Given the description of an element on the screen output the (x, y) to click on. 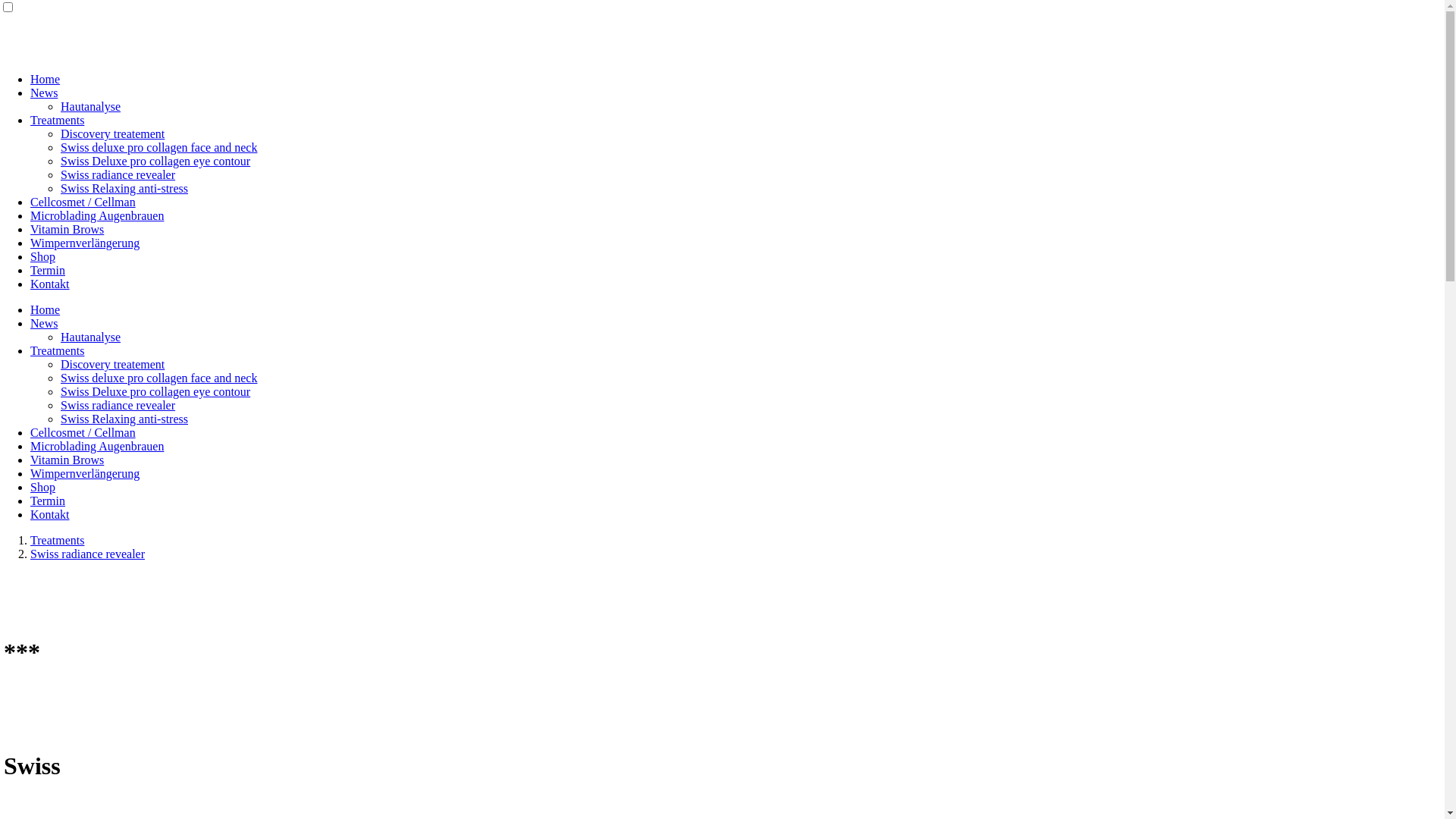
Treatments Element type: text (57, 350)
Discovery treatement Element type: text (112, 363)
Swiss radiance revealer Element type: text (117, 174)
News Element type: text (43, 92)
Swiss Deluxe pro collagen eye contour Element type: text (155, 160)
Microblading Augenbrauen Element type: text (96, 215)
Cellcosmet / Cellman Element type: text (82, 201)
News Element type: text (43, 322)
Hautanalyse Element type: text (90, 106)
Swiss deluxe pro collagen face and neck Element type: text (158, 377)
Microblading Augenbrauen Element type: text (96, 445)
Discovery treatement Element type: text (112, 133)
Swiss radiance revealer Element type: text (117, 404)
Kontakt Element type: text (49, 283)
Swiss deluxe pro collagen face and neck Element type: text (158, 147)
Swiss Relaxing anti-stress Element type: text (124, 188)
Swiss radiance revealer Element type: text (87, 553)
Swiss Relaxing anti-stress Element type: text (124, 418)
Vitamin Brows Element type: text (66, 228)
Vitamin Brows Element type: text (66, 459)
Termin Element type: text (47, 269)
Hautanalyse Element type: text (90, 336)
Cellcosmet / Cellman Element type: text (82, 432)
Shop Element type: text (42, 256)
Termin Element type: text (47, 500)
Kontakt Element type: text (49, 514)
Home Element type: text (44, 78)
Shop Element type: text (42, 486)
Treatments Element type: text (57, 119)
Swiss Deluxe pro collagen eye contour Element type: text (155, 391)
Treatments Element type: text (57, 539)
Home Element type: text (44, 309)
